Given the description of an element on the screen output the (x, y) to click on. 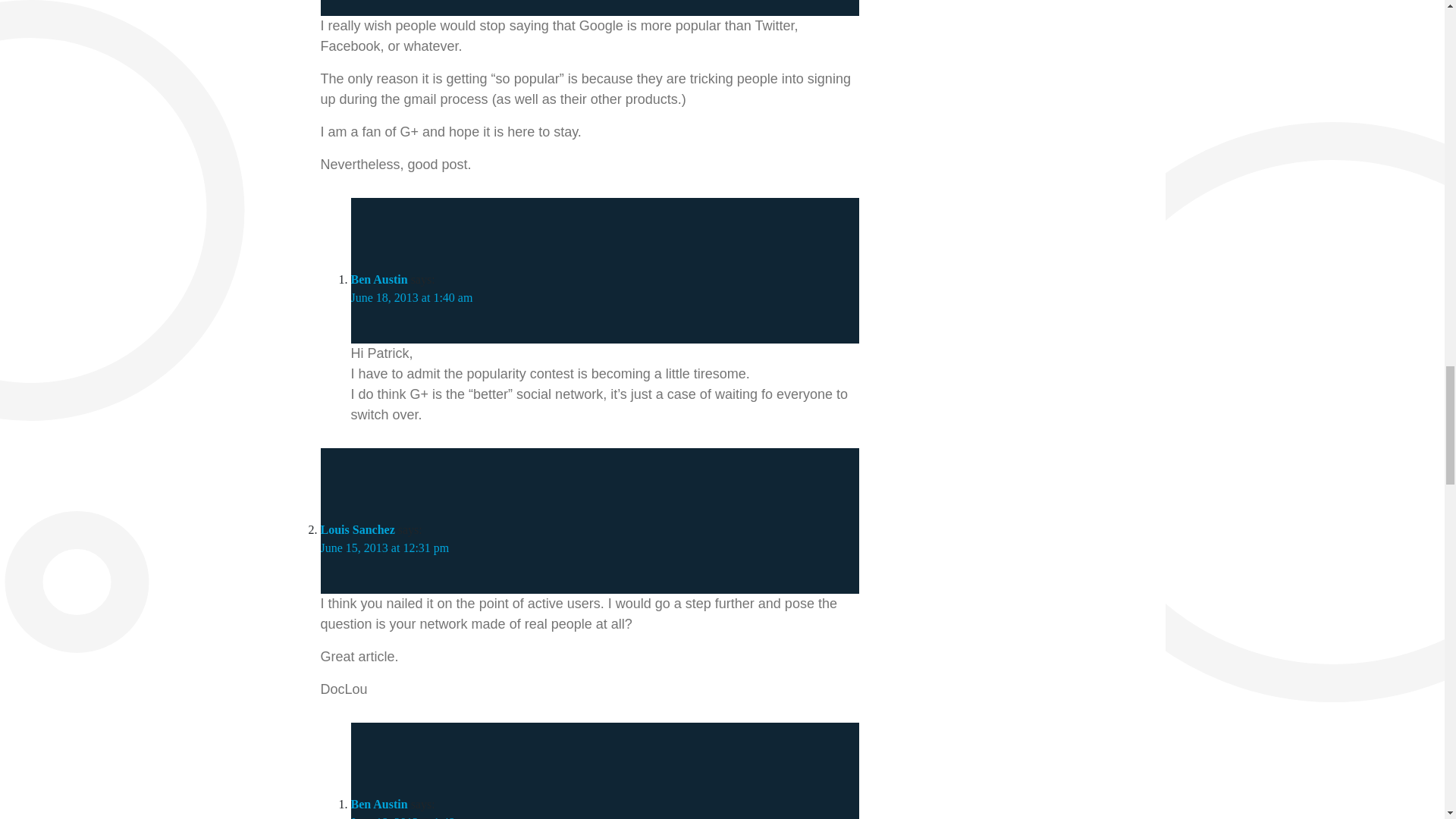
June 15, 2013 at 12:31 pm (384, 547)
Louis Sanchez (357, 529)
June 18, 2013 at 1:40 am (410, 297)
June 18, 2013 at 1:48 am (410, 817)
Ben Austin (378, 803)
Ben Austin (378, 278)
